Given the description of an element on the screen output the (x, y) to click on. 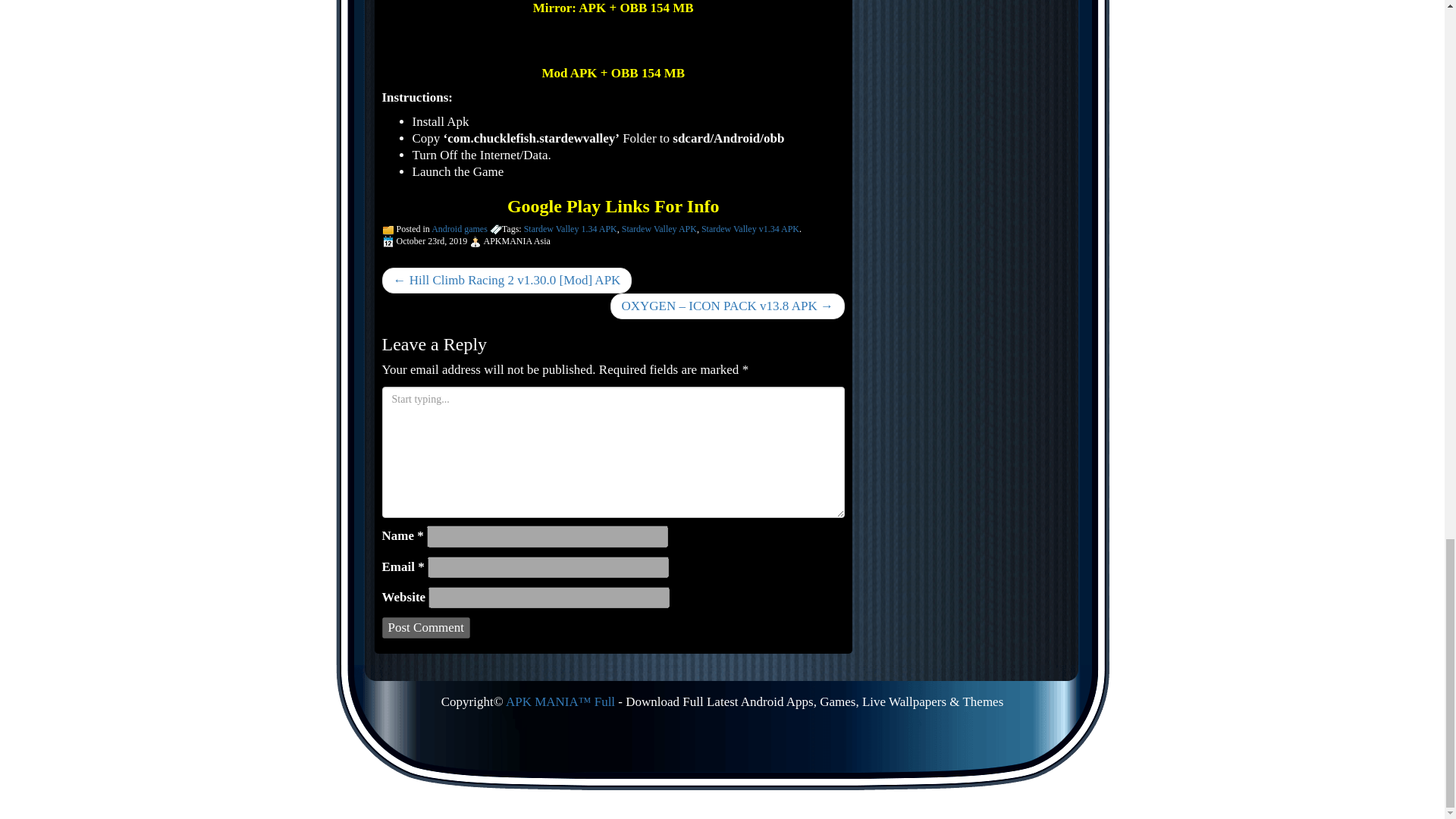
Stardew Valley 1.34 APK (570, 228)
Post Comment (425, 627)
Stardew Valley v1.34 APK (750, 228)
Post Comment (425, 627)
Android games (458, 228)
Google Play Links For Info (612, 206)
Stardew Valley APK (659, 228)
